Given the description of an element on the screen output the (x, y) to click on. 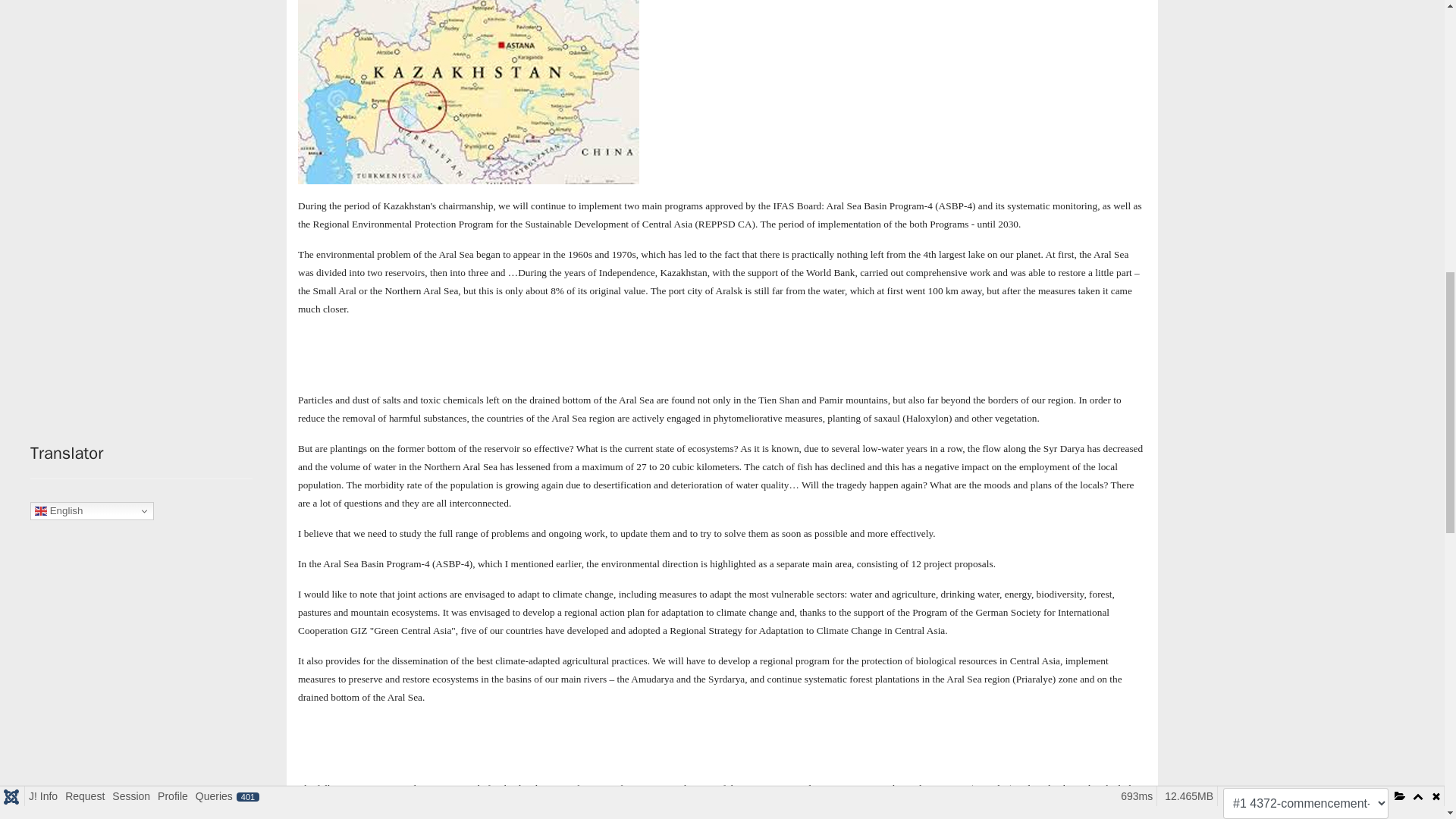
English (92, 511)
